Given the description of an element on the screen output the (x, y) to click on. 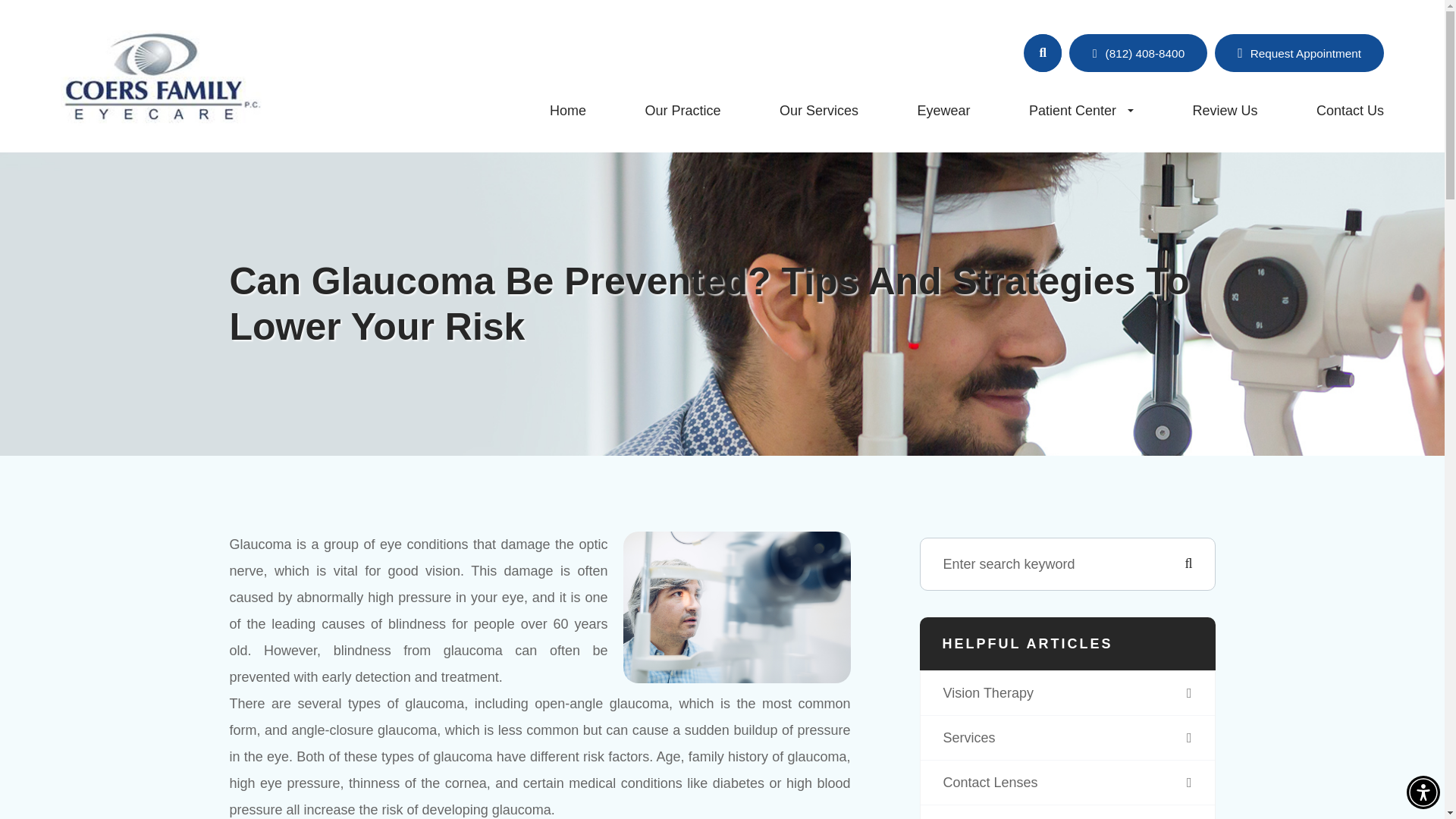
Review Us (1224, 110)
Home (568, 110)
Eyewear (943, 110)
Contact Us (1350, 110)
Our Practice (682, 110)
Accessibility Menu (1422, 792)
Our Services (818, 110)
Patient Center (1081, 110)
Request Appointment (1299, 53)
